Given the description of an element on the screen output the (x, y) to click on. 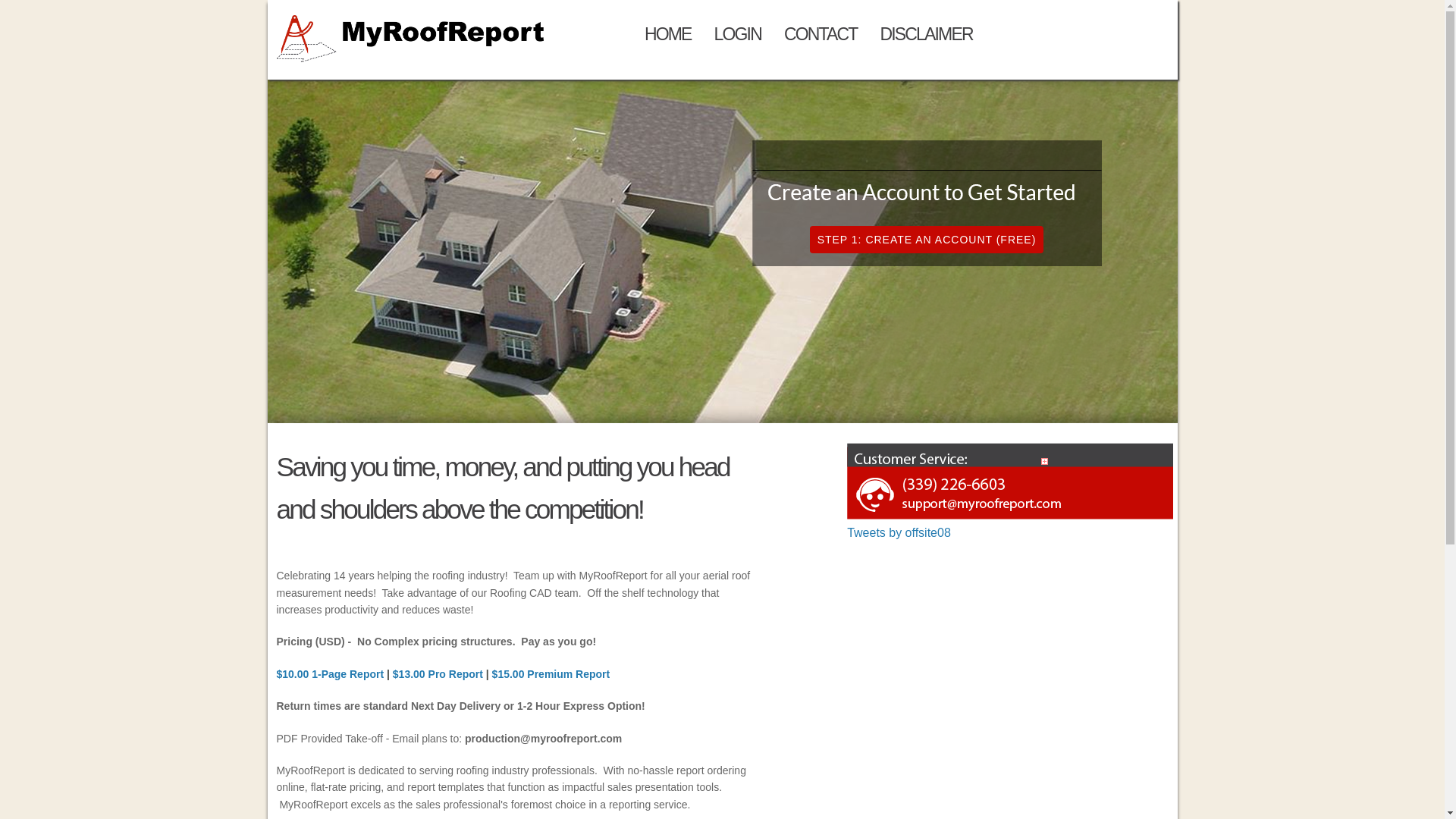
CONTACT (821, 33)
LOGIN (738, 33)
HOME (668, 33)
DISCLAIMER (926, 33)
Tweets by offsite08 (898, 532)
